Given the description of an element on the screen output the (x, y) to click on. 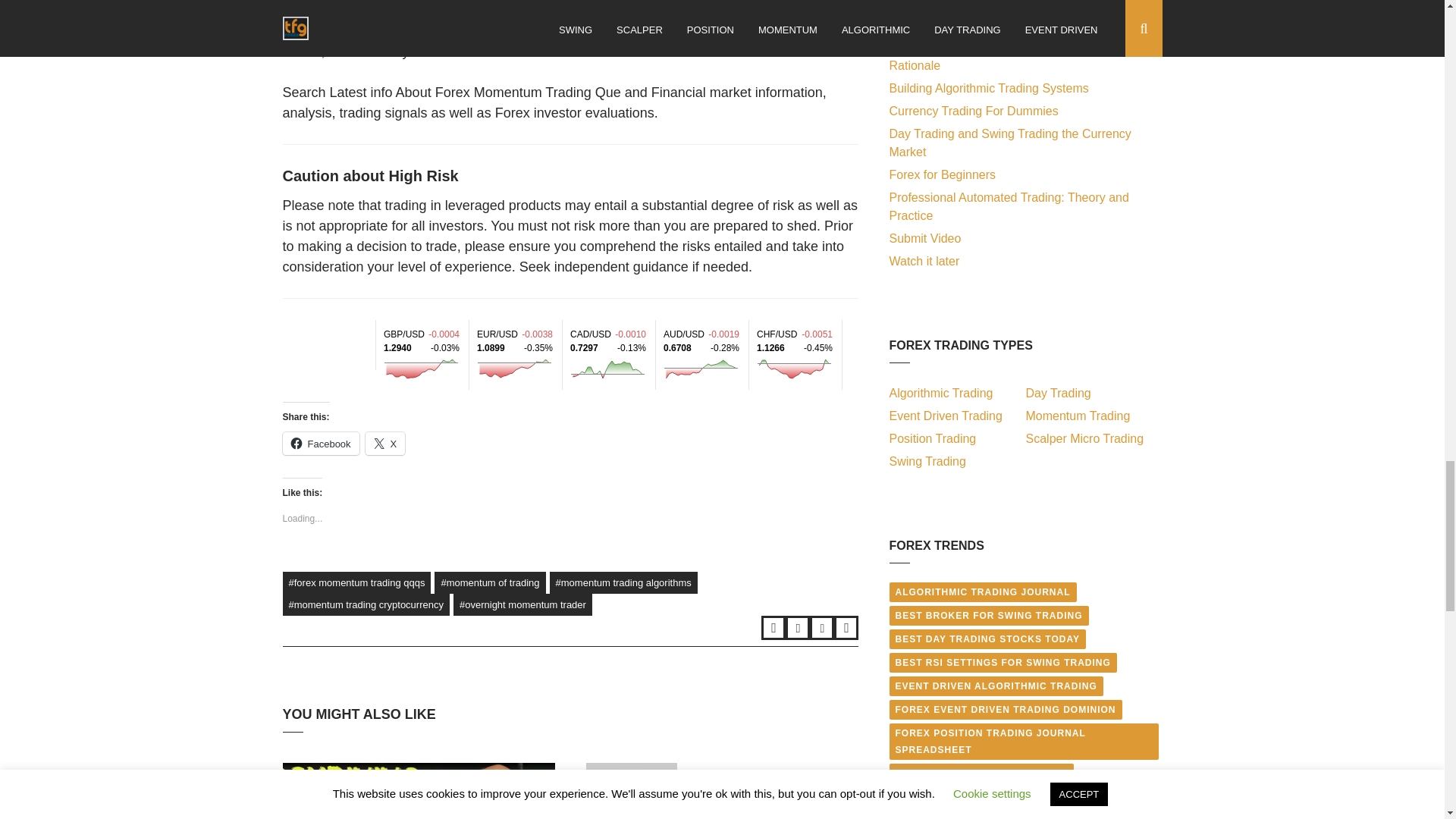
Twitter (773, 627)
Facebook (797, 627)
Facebook (320, 443)
Pinterest (846, 627)
Click to share on Facebook (320, 443)
X (385, 443)
Click to share on X (385, 443)
